Given the description of an element on the screen output the (x, y) to click on. 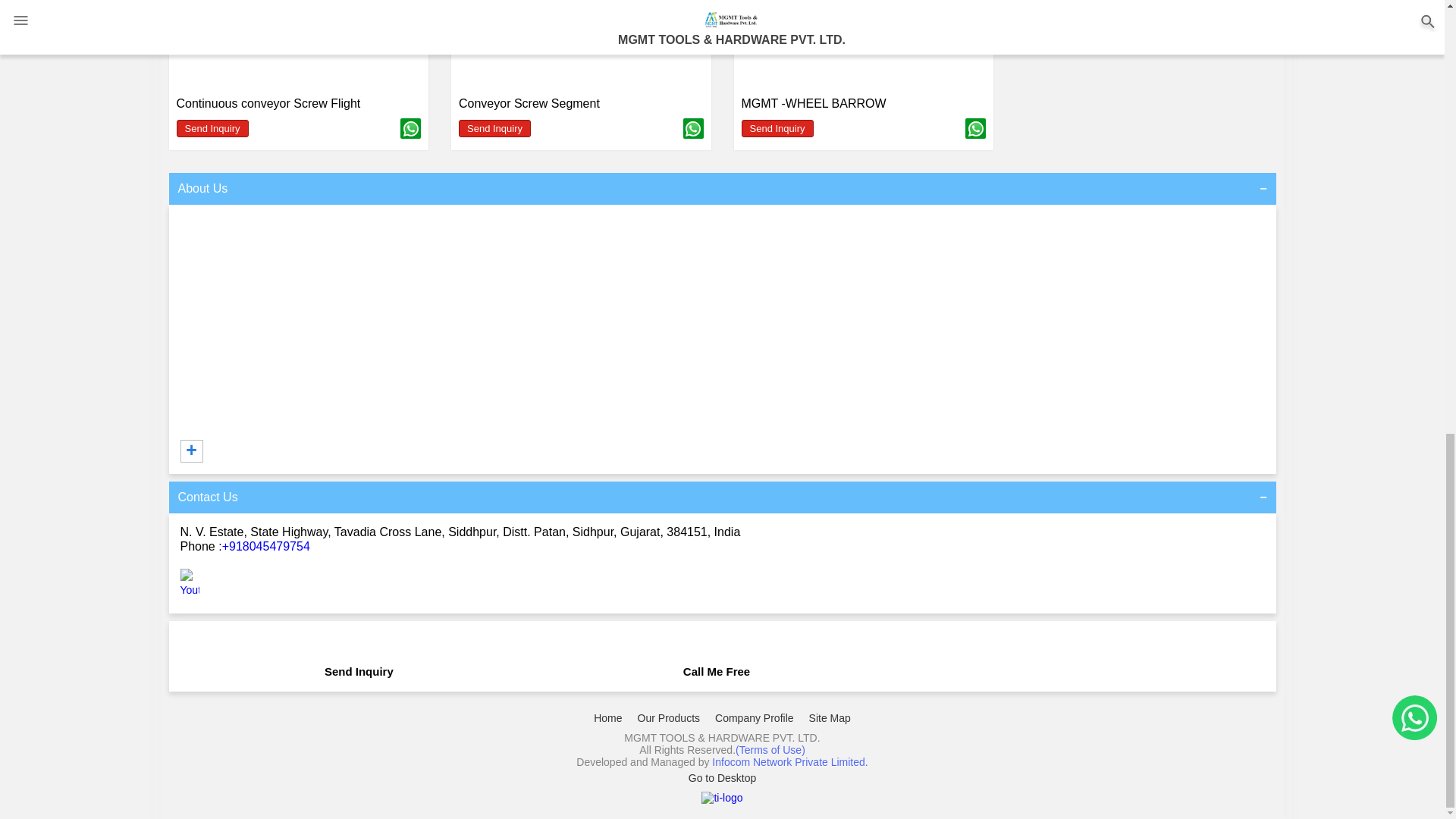
Youtube (189, 589)
